Given the description of an element on the screen output the (x, y) to click on. 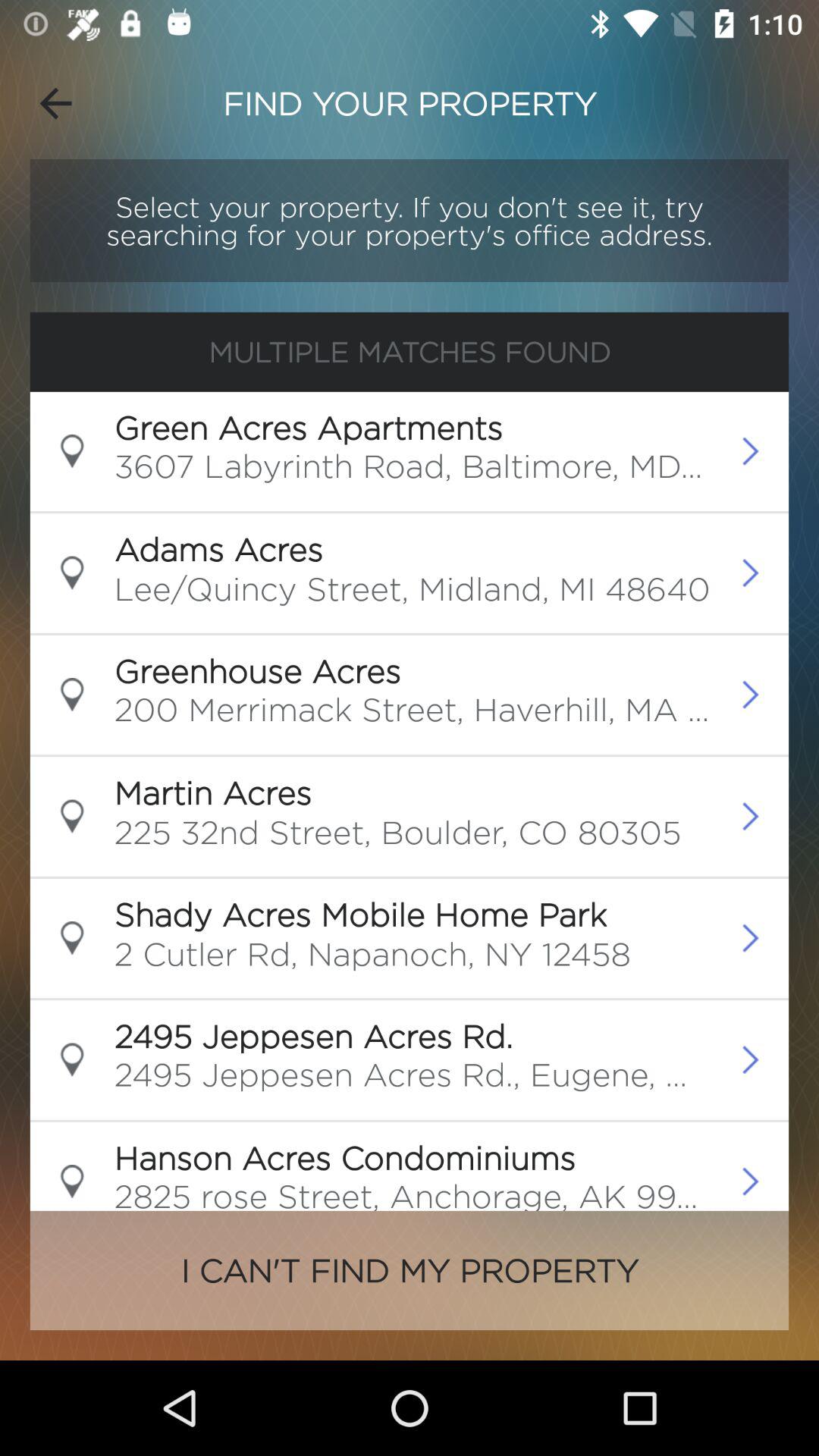
jump until the 225 32nd street (397, 836)
